Given the description of an element on the screen output the (x, y) to click on. 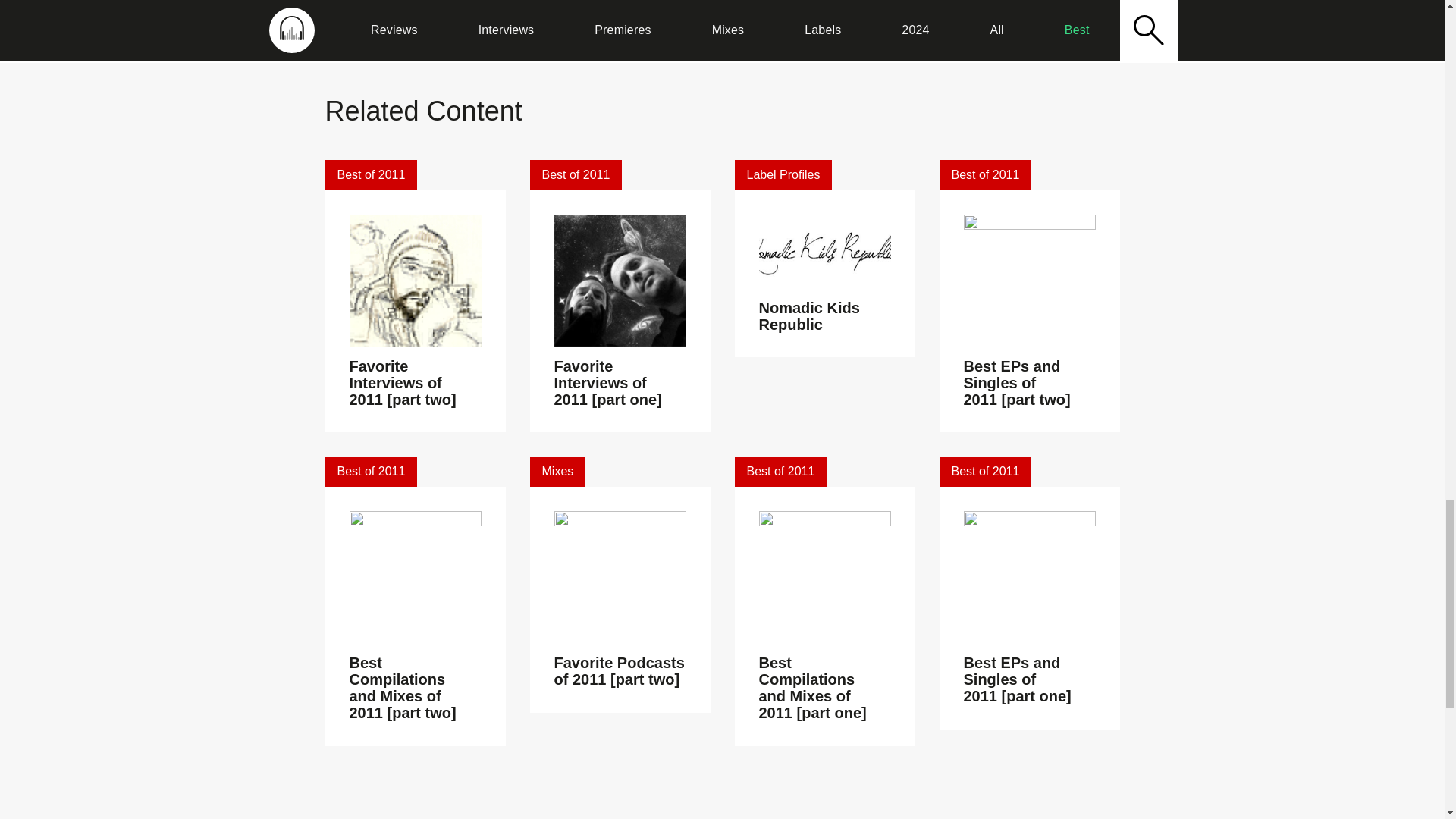
Best of 2011 (984, 174)
Best of 2011 (370, 174)
Best of 2011 (370, 471)
Label Profiles (782, 174)
Nomadic Kids Republic (808, 315)
Best of 2011 (575, 174)
